Given the description of an element on the screen output the (x, y) to click on. 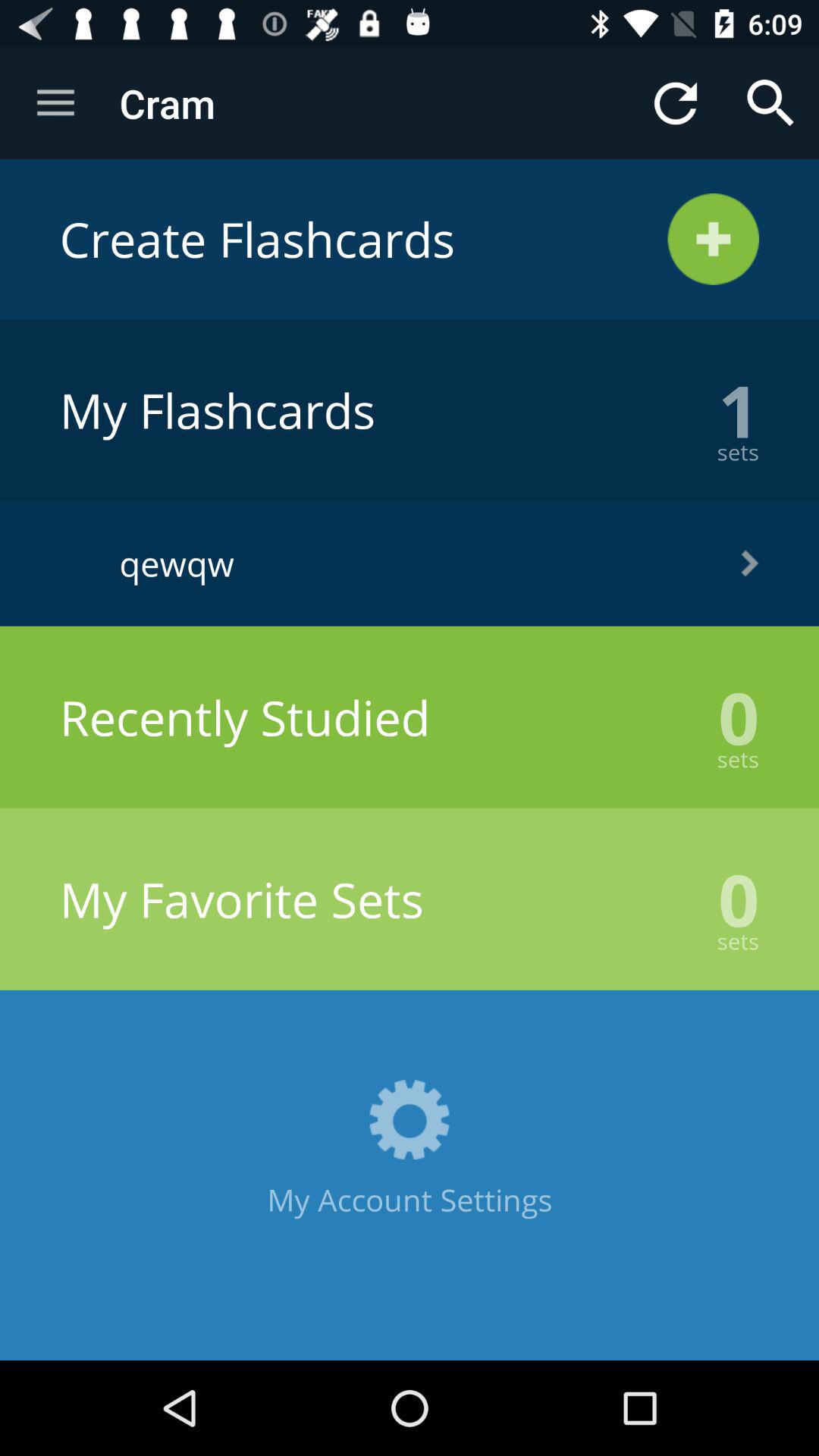
press the item above create flashcards (55, 103)
